Given the description of an element on the screen output the (x, y) to click on. 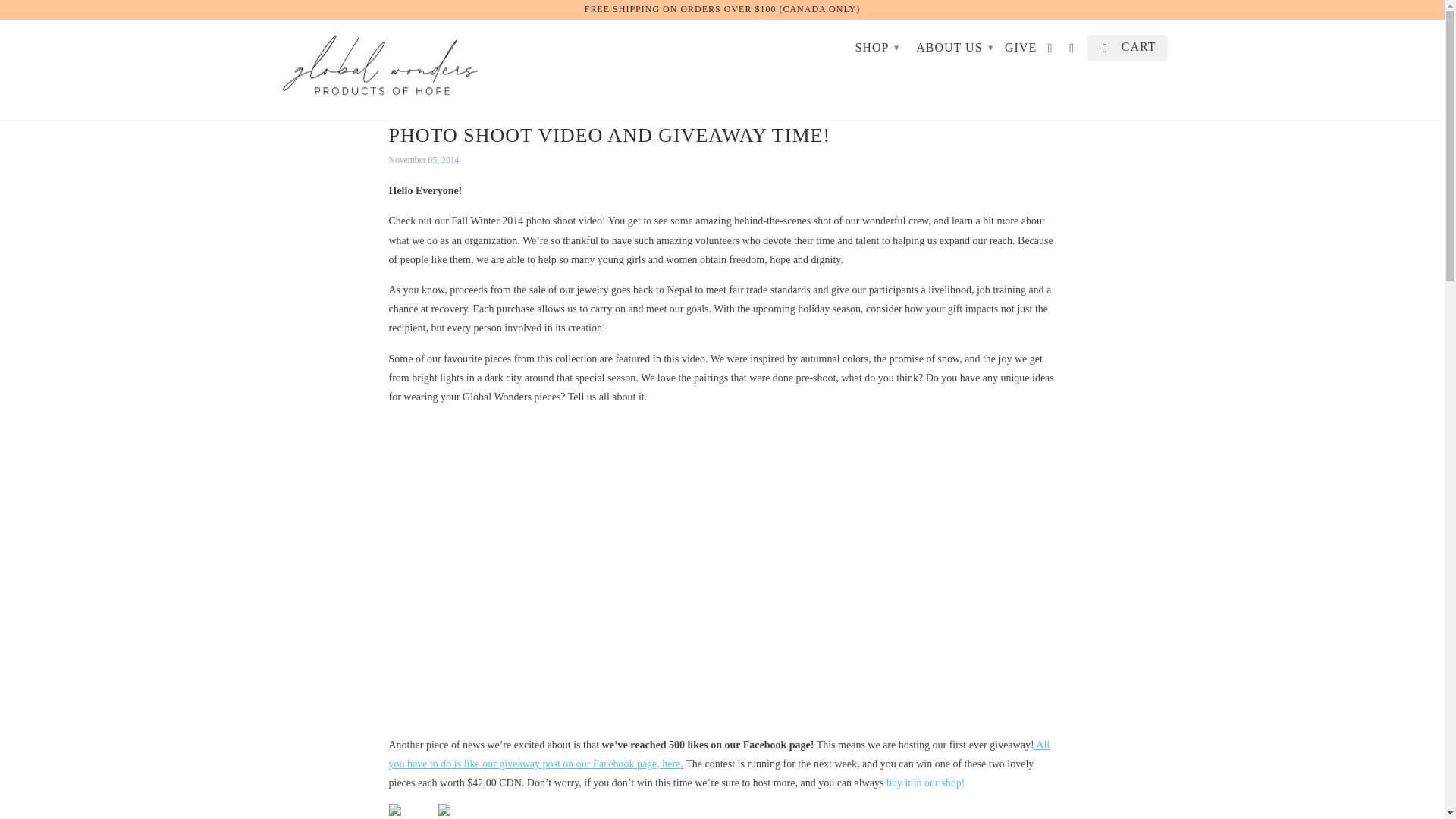
Vintage Girl Product Page (443, 816)
GW Facebook Page (718, 754)
Shop here (924, 782)
Paper Lanterns Product Page (394, 816)
